Given the description of an element on the screen output the (x, y) to click on. 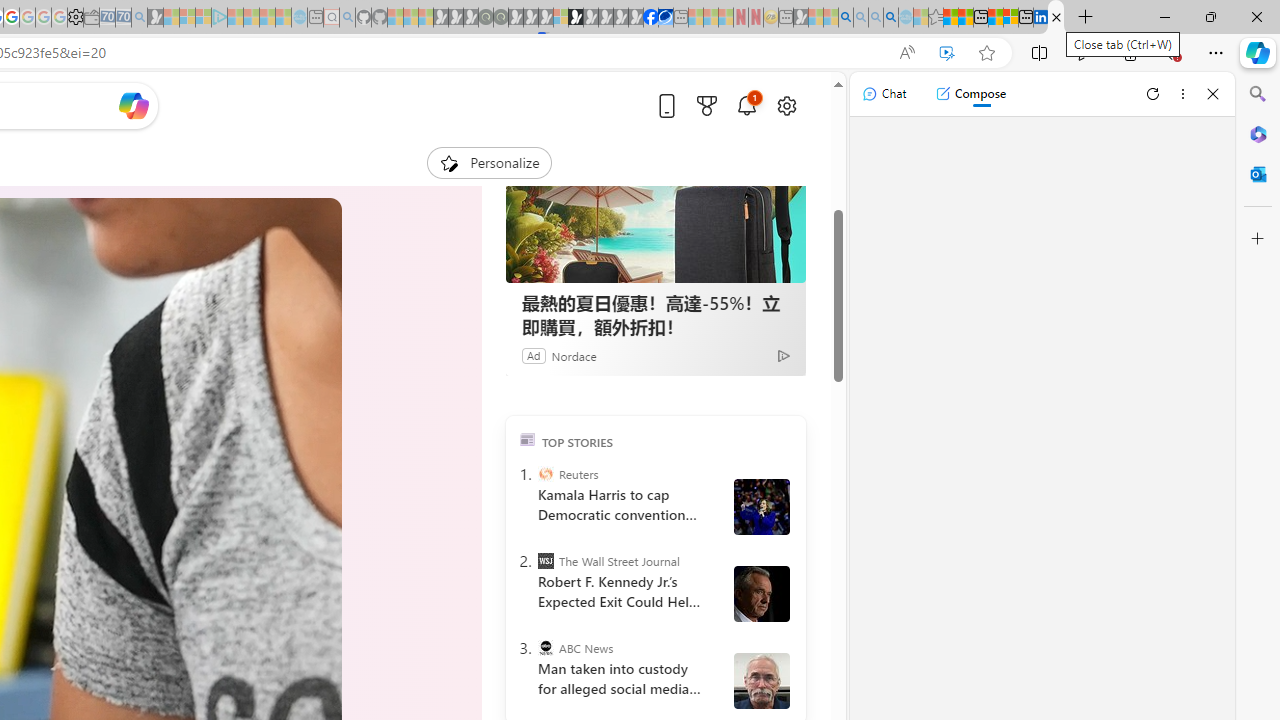
 Harris and Walz campaign in Wisconsin (761, 506)
